Given the description of an element on the screen output the (x, y) to click on. 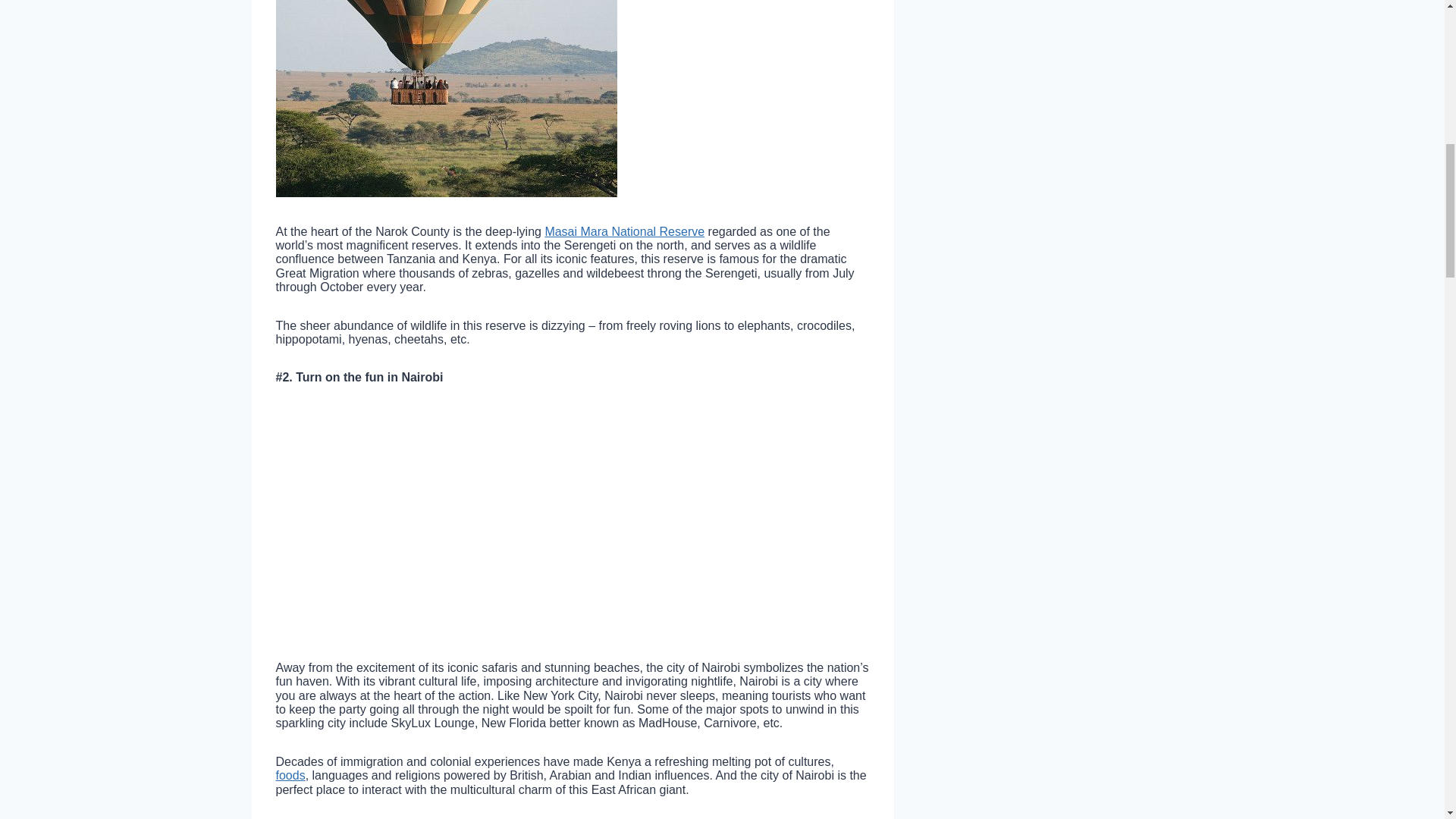
foods (290, 775)
Masai Mara National Reserve (624, 231)
